Given the description of an element on the screen output the (x, y) to click on. 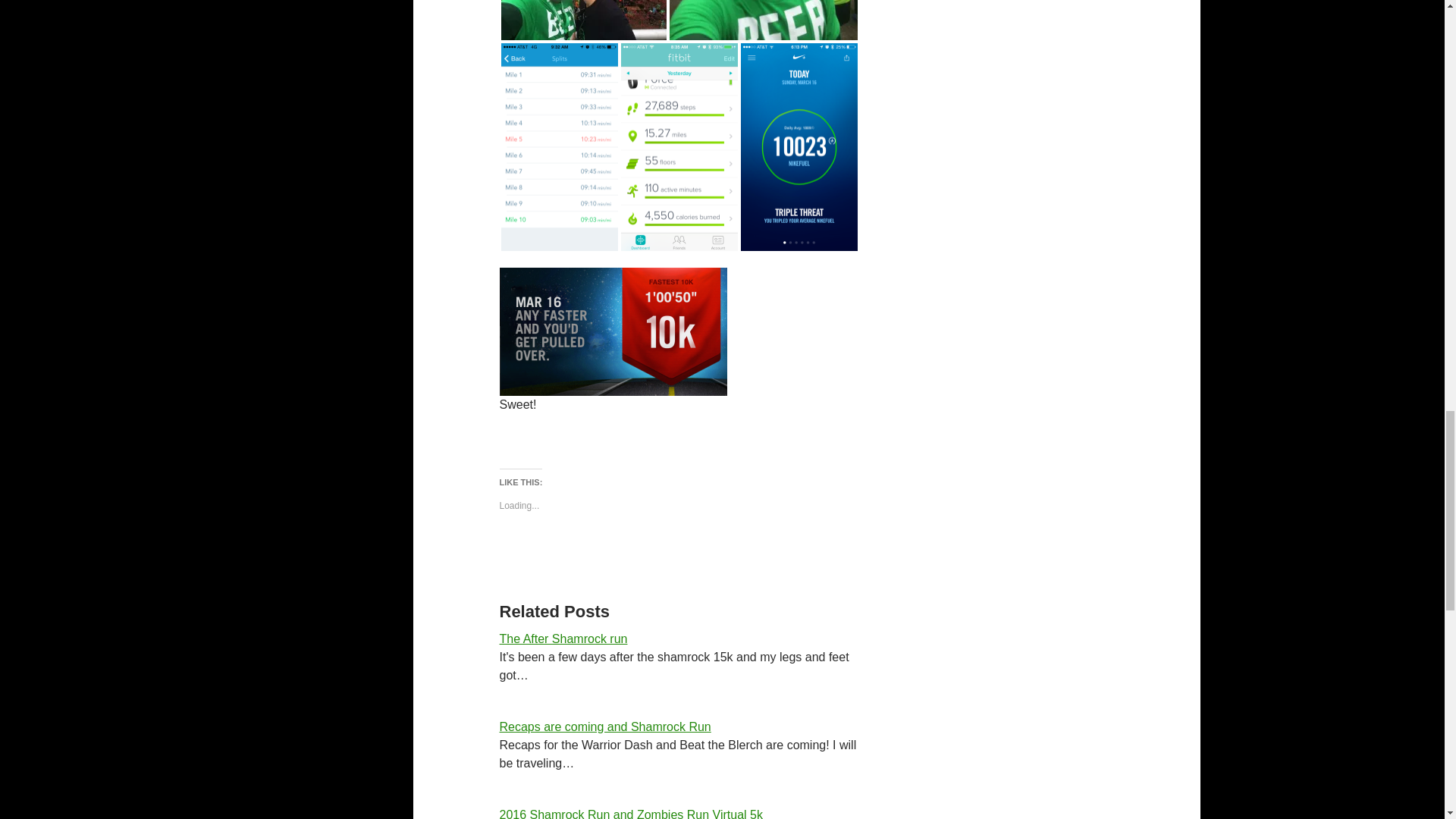
E0D8AF3A-DCBD-48BE-9A10-2A388961A2A5 (762, 20)
Recaps are coming and Shamrock Run (604, 726)
The After Shamrock run (563, 638)
2016 Shamrock Run and Zombies Run Virtual 5k (630, 813)
